Given the description of an element on the screen output the (x, y) to click on. 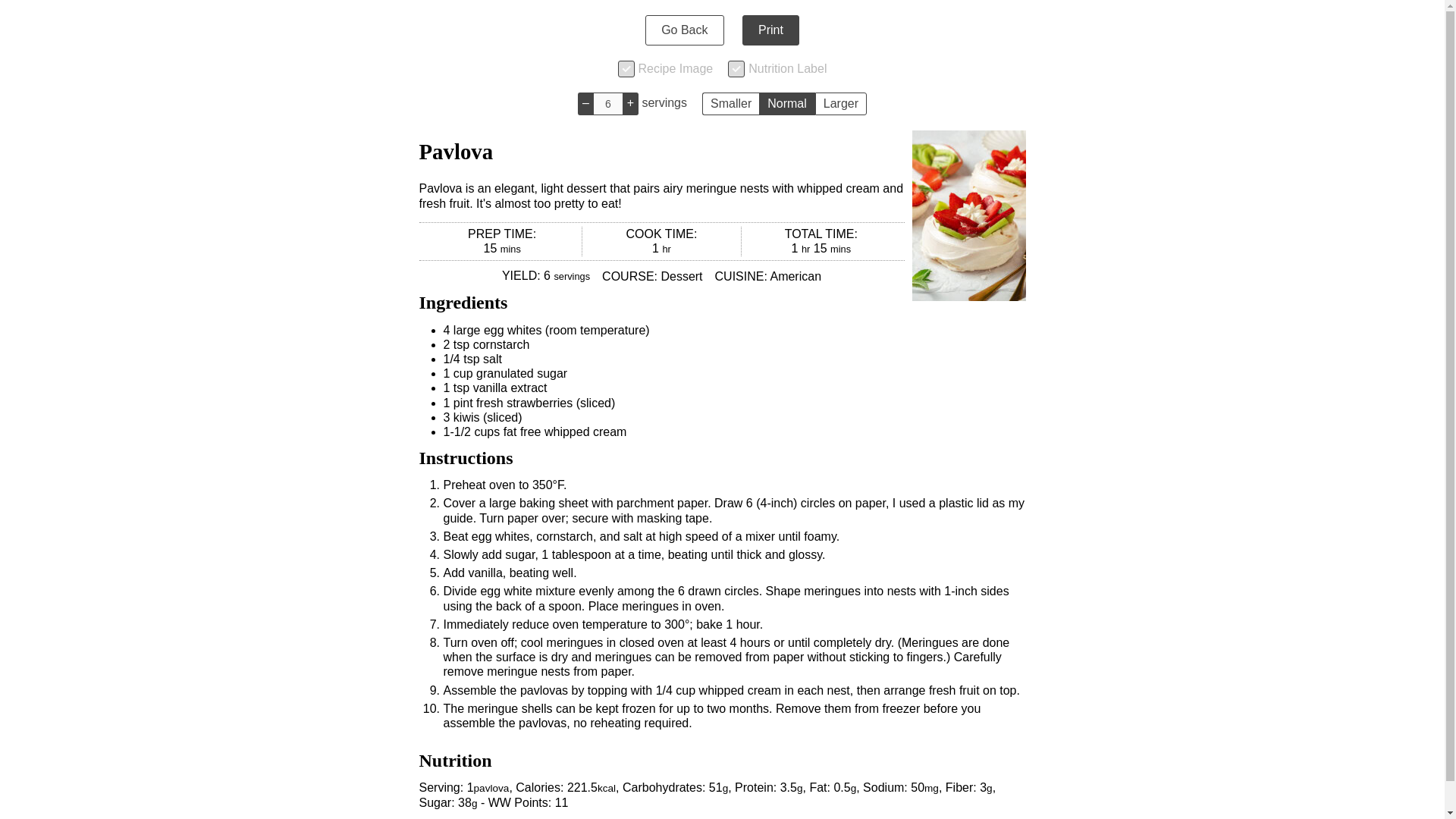
Larger (840, 103)
Print (770, 30)
Go Back (684, 30)
6 (607, 103)
Normal (786, 103)
Smaller (729, 103)
